Given the description of an element on the screen output the (x, y) to click on. 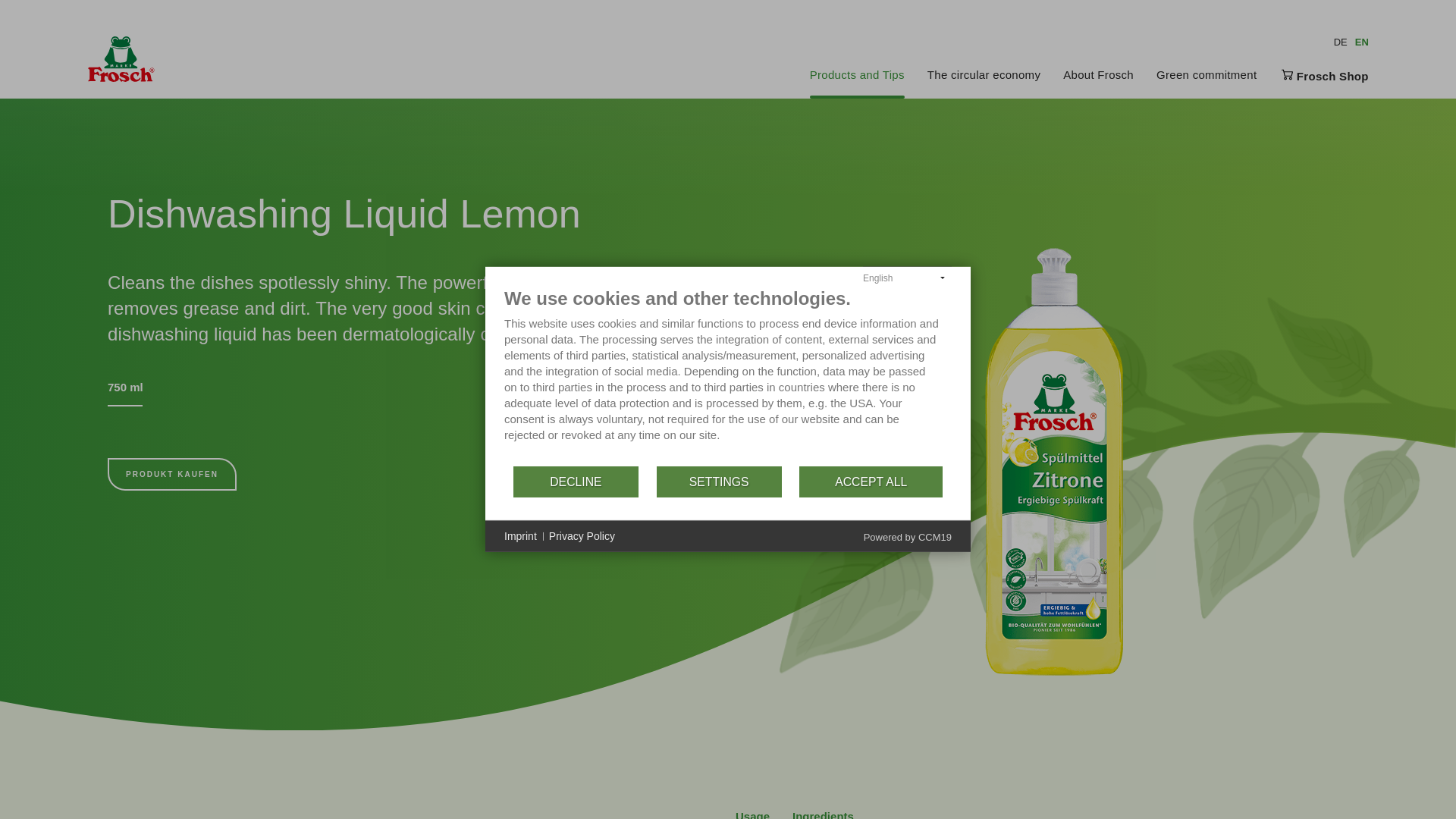
Products and Tips (856, 74)
Ingredients (822, 812)
SETTINGS (718, 481)
DE (1340, 41)
The circular economy (984, 74)
ACCEPT ALL (870, 481)
Imprint (520, 536)
EN (1361, 41)
750 ml (124, 387)
DECLINE (576, 481)
Frosch Shop (1323, 74)
About Frosch (1098, 74)
PRODUKT KAUFEN (171, 473)
Green commitment (1206, 74)
Usage (752, 812)
